Given the description of an element on the screen output the (x, y) to click on. 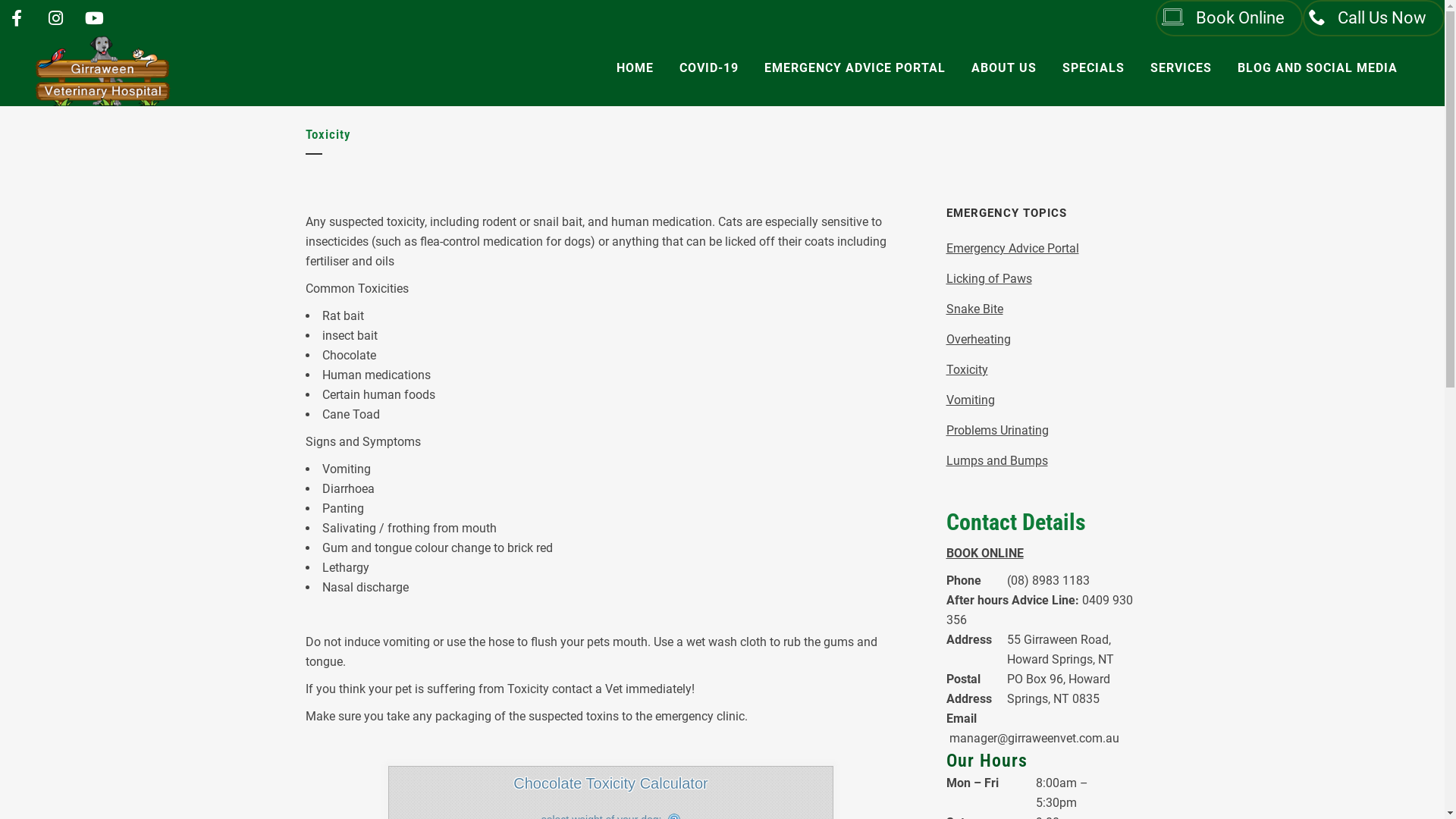
ABOUT US Element type: text (1003, 68)
Girraween Veterinary Hospital on Youtube Element type: hover (93, 18)
Book Online Element type: text (1228, 18)
EMERGENCY ADVICE PORTAL Element type: text (854, 68)
Toxicity Element type: text (967, 369)
Lumps and Bumps Element type: text (997, 460)
BOOK ONLINE Element type: text (984, 553)
HOME Element type: text (634, 68)
SPECIALS Element type: text (1093, 68)
Emergency Advice Portal Element type: text (1012, 248)
Problems Urinating Element type: text (997, 430)
COVID-19 Element type: text (708, 68)
Snake Bite Element type: text (974, 308)
Overheating Element type: text (978, 339)
Licking of Paws Element type: text (989, 278)
Vomiting Element type: text (970, 399)
Girraween Veterinary Hospital on Instagram Element type: hover (55, 18)
Call Us Now Element type: text (1373, 18)
SERVICES Element type: text (1180, 68)
BLOG AND SOCIAL MEDIA Element type: text (1317, 68)
Girraween Veterinary Hospital on Facebook Element type: hover (16, 18)
